Given the description of an element on the screen output the (x, y) to click on. 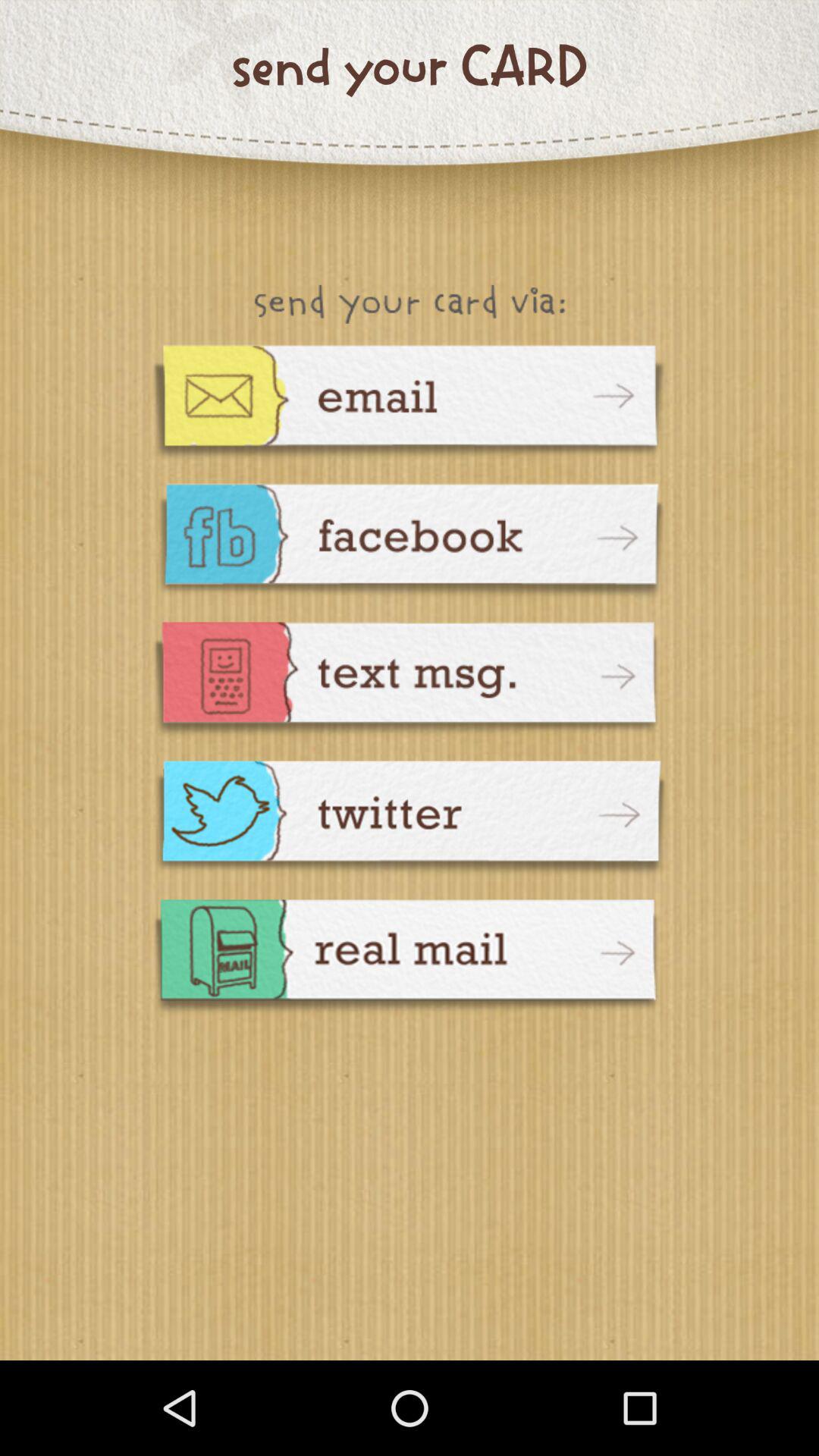
email (409, 403)
